Given the description of an element on the screen output the (x, y) to click on. 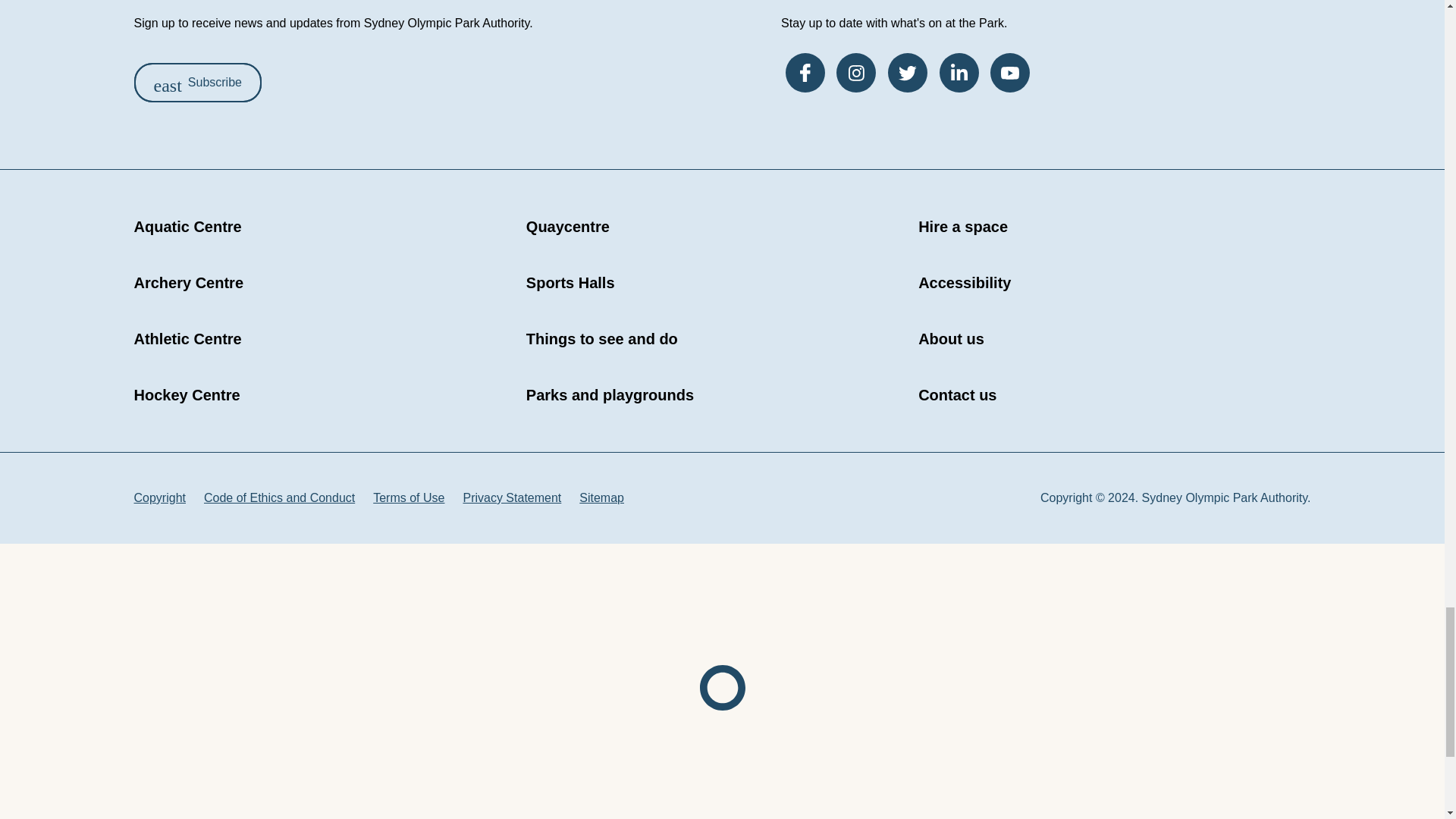
LinkedIn (958, 72)
Facebook (805, 72)
YouTube (1009, 72)
Instagram (855, 72)
Twitter (907, 72)
